Given the description of an element on the screen output the (x, y) to click on. 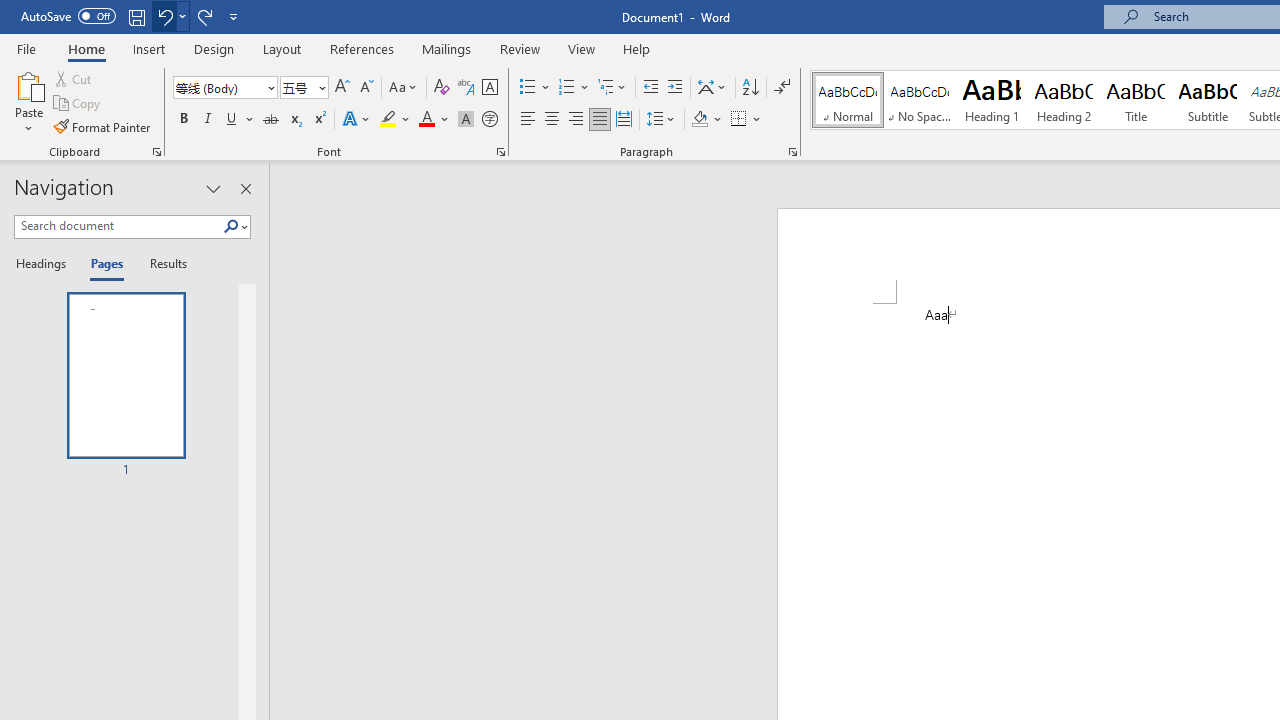
Search (231, 227)
Bullets (535, 87)
Text Effects and Typography (357, 119)
Class: NetUIImage (231, 226)
Align Right (575, 119)
Copy (78, 103)
Font Size (297, 87)
Redo Apply Quick Style (204, 15)
Review (520, 48)
Strikethrough (270, 119)
Text Highlight Color (395, 119)
Subscript (294, 119)
References (362, 48)
System (10, 11)
